Given the description of an element on the screen output the (x, y) to click on. 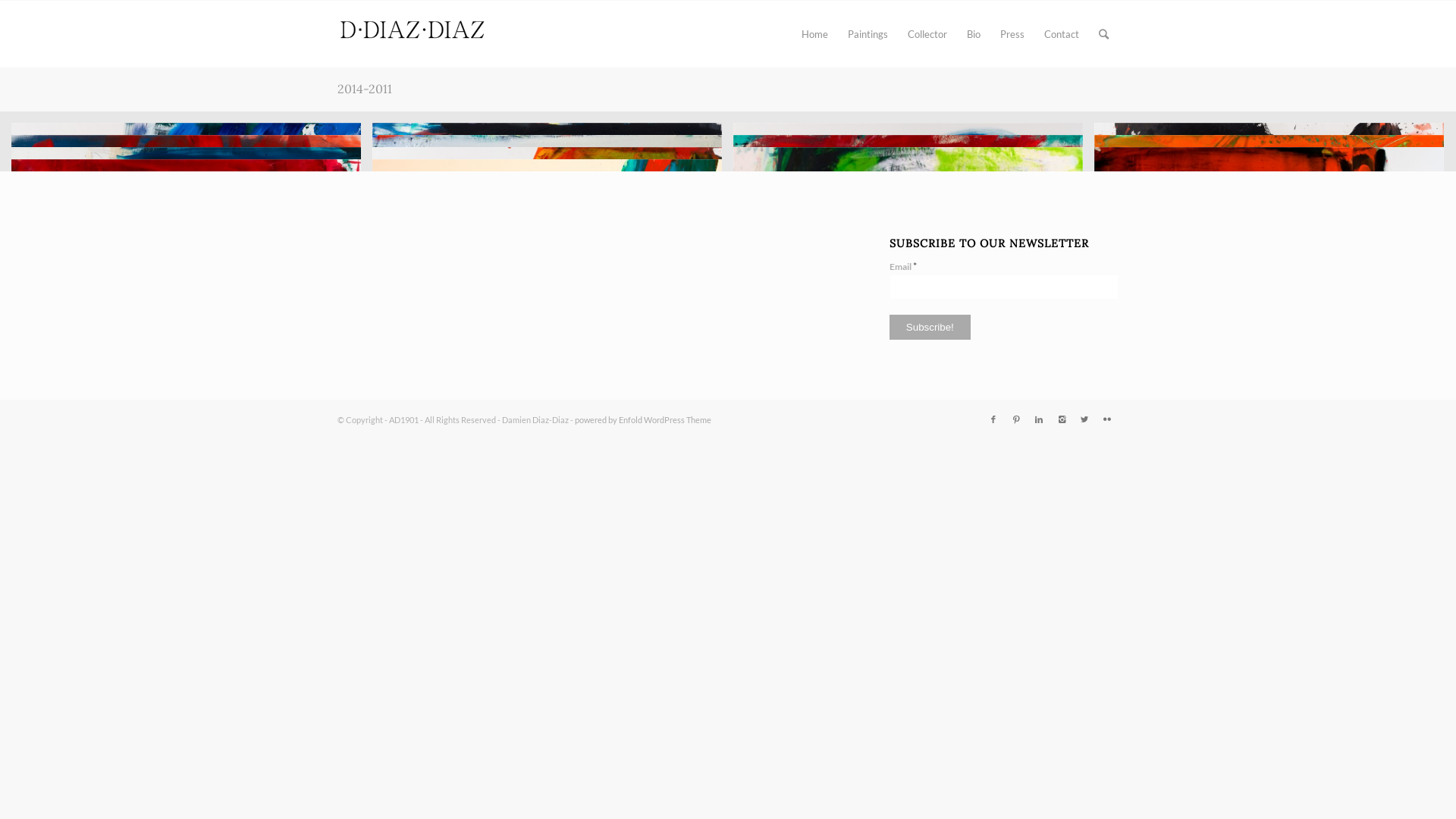
Home Element type: text (814, 33)
Paintings Element type: text (867, 33)
2012-2-140x140cm-Damien-DIAZ-DIAZ Element type: hover (191, 328)
2011-2-160x120cm-Damien-DIAZ-DIAZ Element type: hover (185, 289)
2012-3-140x120cm-Damien-DIAZ-DIAZ Element type: hover (1268, 284)
2011 (1) 140x120cm Damien DIAZ-DIAZ Element type: hover (552, 314)
2013 (1) 140x100cm Damien DIAZ-DIAZ Element type: hover (546, 249)
2012-4-200x150cm-Damien-DIAZ-DIAZ Element type: hover (907, 264)
2014-4-160x120cm-Damien-DIAZ-DIAZ Element type: hover (185, 252)
Press Element type: text (1012, 33)
2012-4-200x150cm-Damien-DIAZ-DIAZ Element type: hover (913, 270)
2012-3-140x120cm-Damien-DIAZ-DIAZ Element type: hover (1274, 289)
2013 (1) 140x100cm Damien DIAZ-DIAZ Element type: hover (552, 254)
2011 (3) 160x120cm Damien DIAZ-DIAZ Element type: hover (1274, 283)
Flickr Element type: hover (1106, 418)
Pinterest Element type: hover (1015, 418)
2014-2011 Element type: text (364, 88)
2011 (4) 120x140cm Damien DIAZ-DIAZ Element type: hover (913, 354)
powered by Enfold WordPress Theme Element type: text (642, 419)
2014-1-180x120cm-Damien-DIAZ-DIAZ Element type: hover (1274, 243)
2011-2-160x120cm-Damien-DIAZ-DIAZ Element type: hover (191, 295)
2013-2-130x150cm-Damien-DIAZ-DIAZ Element type: hover (185, 337)
Twitter Element type: hover (1084, 418)
Bio Element type: text (973, 33)
2014-2-140x150cm-Damien-DIAZ-DIAZ Element type: hover (913, 315)
2011 (3) 160x120cm Damien DIAZ-DIAZ Element type: hover (1268, 277)
2014-1-180x120cm-Damien-DIAZ-DIAZ Element type: hover (1268, 237)
Facebook Element type: hover (993, 418)
2012-1-140x100cm-Damien-DIAZ-DIAZ Element type: hover (546, 271)
Subscribe! Element type: text (929, 326)
2013-2-130x150cm-Damien-DIAZ-DIAZ Element type: hover (191, 343)
2011 (1) 140x120cm Damien DIAZ-DIAZ Element type: hover (546, 308)
2012-1-140x100cm-Damien-DIAZ-DIAZ Element type: hover (552, 277)
2014-3-180x150cm-Damien-DIAZ-DIAZ Element type: hover (552, 269)
Instagram Element type: hover (1061, 418)
2011 (4) 120x140cm Damien DIAZ-DIAZ Element type: hover (907, 348)
2014-4-160x120cm-Damien-DIAZ-DIAZ Element type: hover (191, 258)
2014-3-180x150cm-Damien-DIAZ-DIAZ Element type: hover (546, 264)
LinkedIn Element type: hover (1038, 418)
Email Element type: hover (1003, 286)
Contact Element type: text (1061, 33)
2012-2-140x140cm-Damien-DIAZ-DIAZ Element type: hover (185, 322)
Collector Element type: text (927, 33)
2014-2-140x150cm-Damien-DIAZ-DIAZ Element type: hover (907, 310)
